Given the description of an element on the screen output the (x, y) to click on. 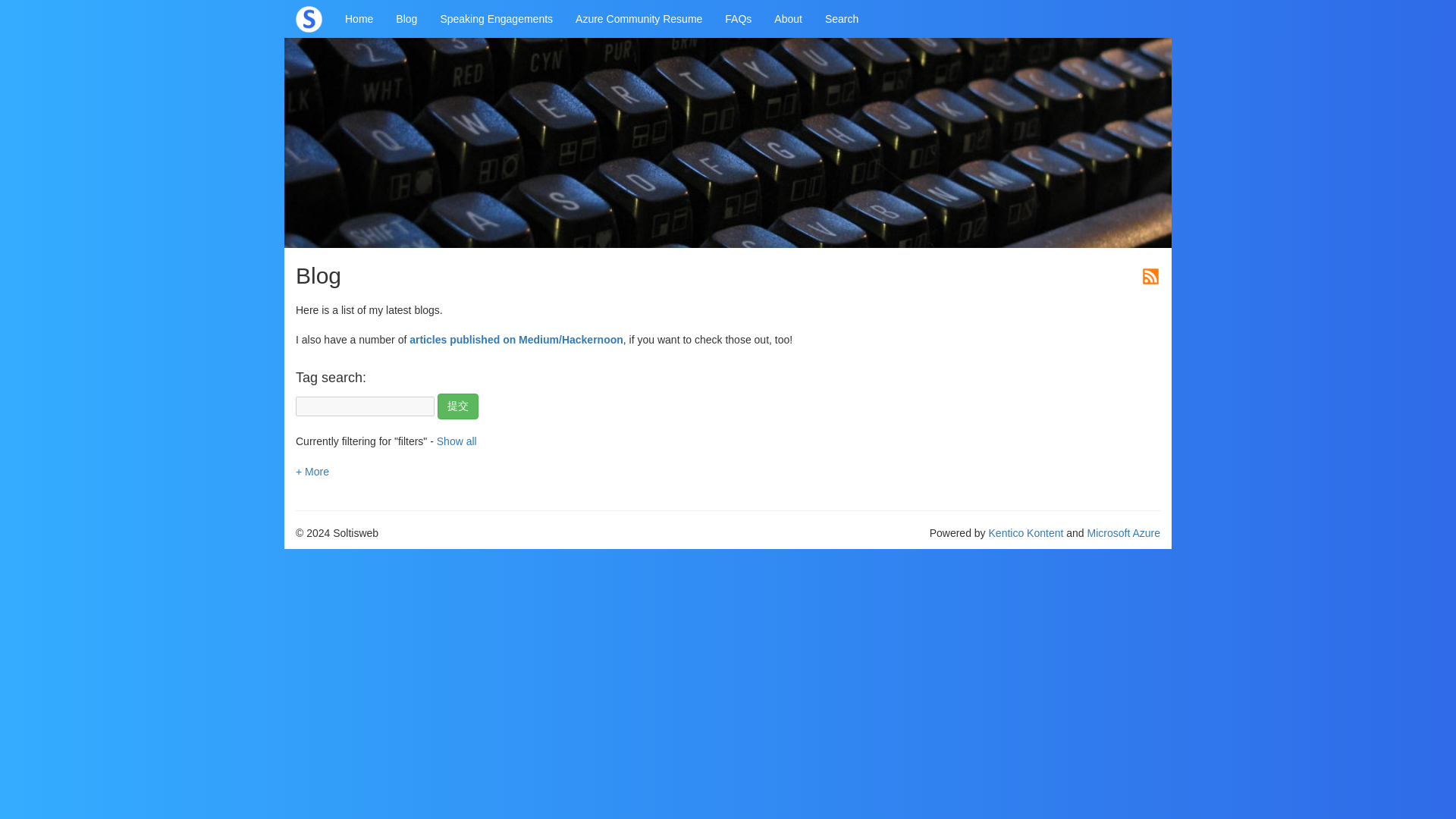
FAQs (737, 18)
About (787, 18)
Home (358, 18)
Azure Community Resume (638, 18)
Search (841, 18)
Speaking Engagements (496, 18)
Blog (406, 18)
Show all (456, 440)
Microsoft Azure (1123, 532)
Kentico Kontent (1026, 532)
